Given the description of an element on the screen output the (x, y) to click on. 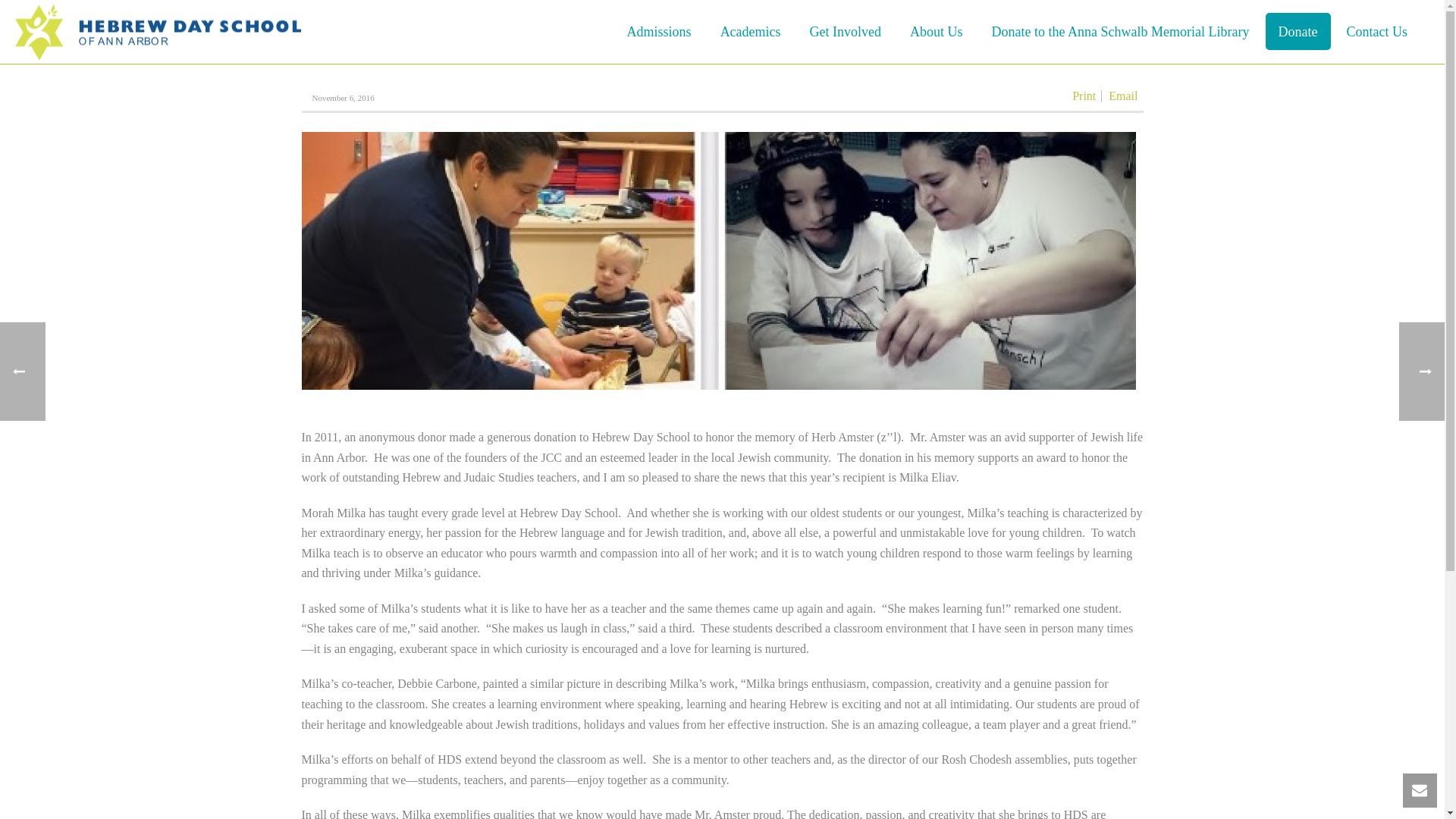
About Us (935, 31)
Donate Now (1297, 31)
Get Involved (844, 31)
About Us (935, 31)
A joyful community of learners! (157, 31)
Academics (750, 31)
Contact Us (1377, 31)
Get Involved (844, 31)
Admissions (659, 31)
Donate (1297, 31)
Admissions (659, 31)
Academics (750, 31)
Donate to the Anna Schwalb Memorial Library (1120, 31)
